Given the description of an element on the screen output the (x, y) to click on. 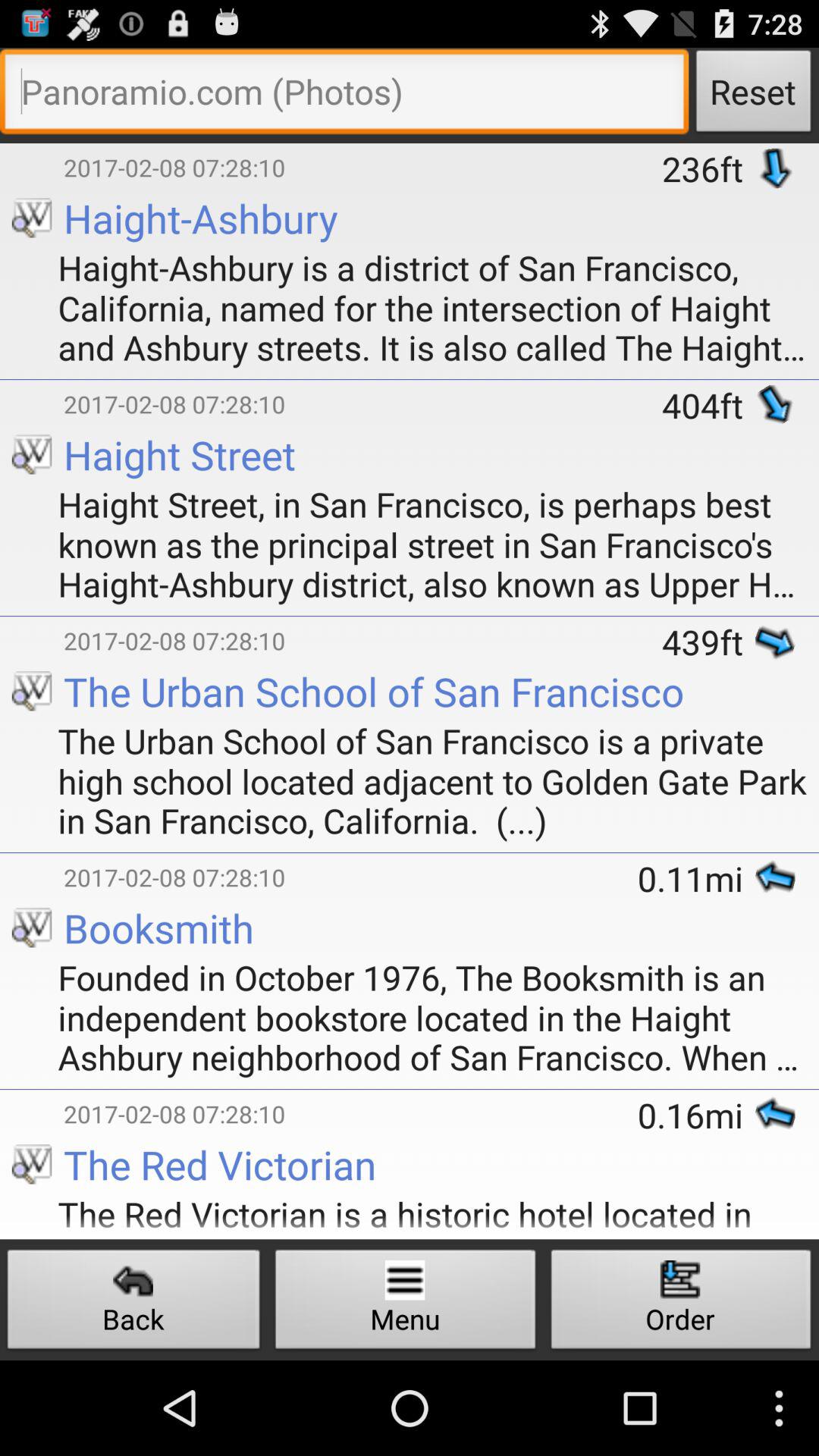
tap item to the left of menu icon (133, 1303)
